Given the description of an element on the screen output the (x, y) to click on. 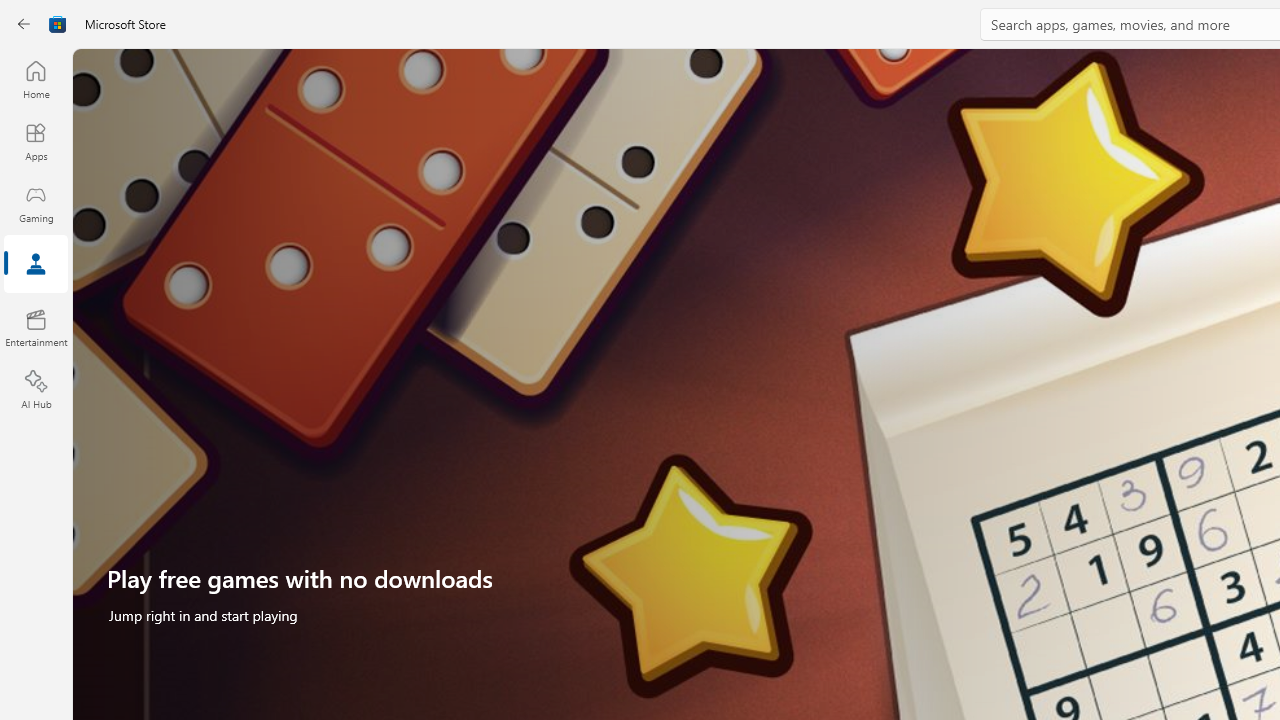
Back (24, 24)
